Given the description of an element on the screen output the (x, y) to click on. 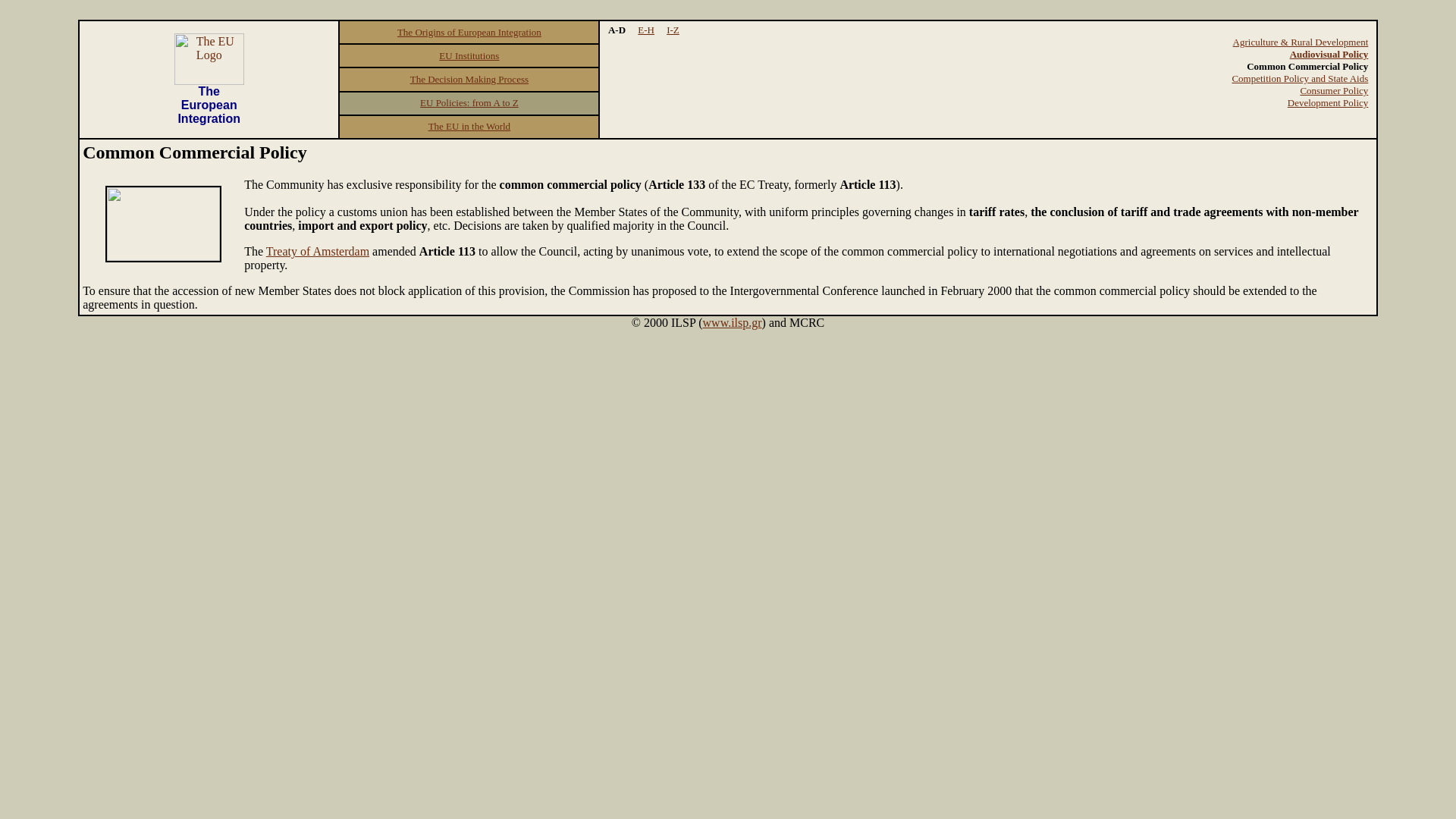
The EU in the World (469, 124)
The Origins of European Integration (469, 31)
Competition Policy and State Aids (1299, 78)
EU Institutions (469, 54)
Consumer Policy (1334, 90)
www.ilsp.gr (732, 322)
Treaty of Amsterdam (317, 250)
Development Policy (1327, 102)
EU Policies: from A to Z (469, 101)
The Decision Making Process (469, 78)
E-H (645, 30)
I-Z (672, 30)
Audiovisual Policy (1329, 53)
